Given the description of an element on the screen output the (x, y) to click on. 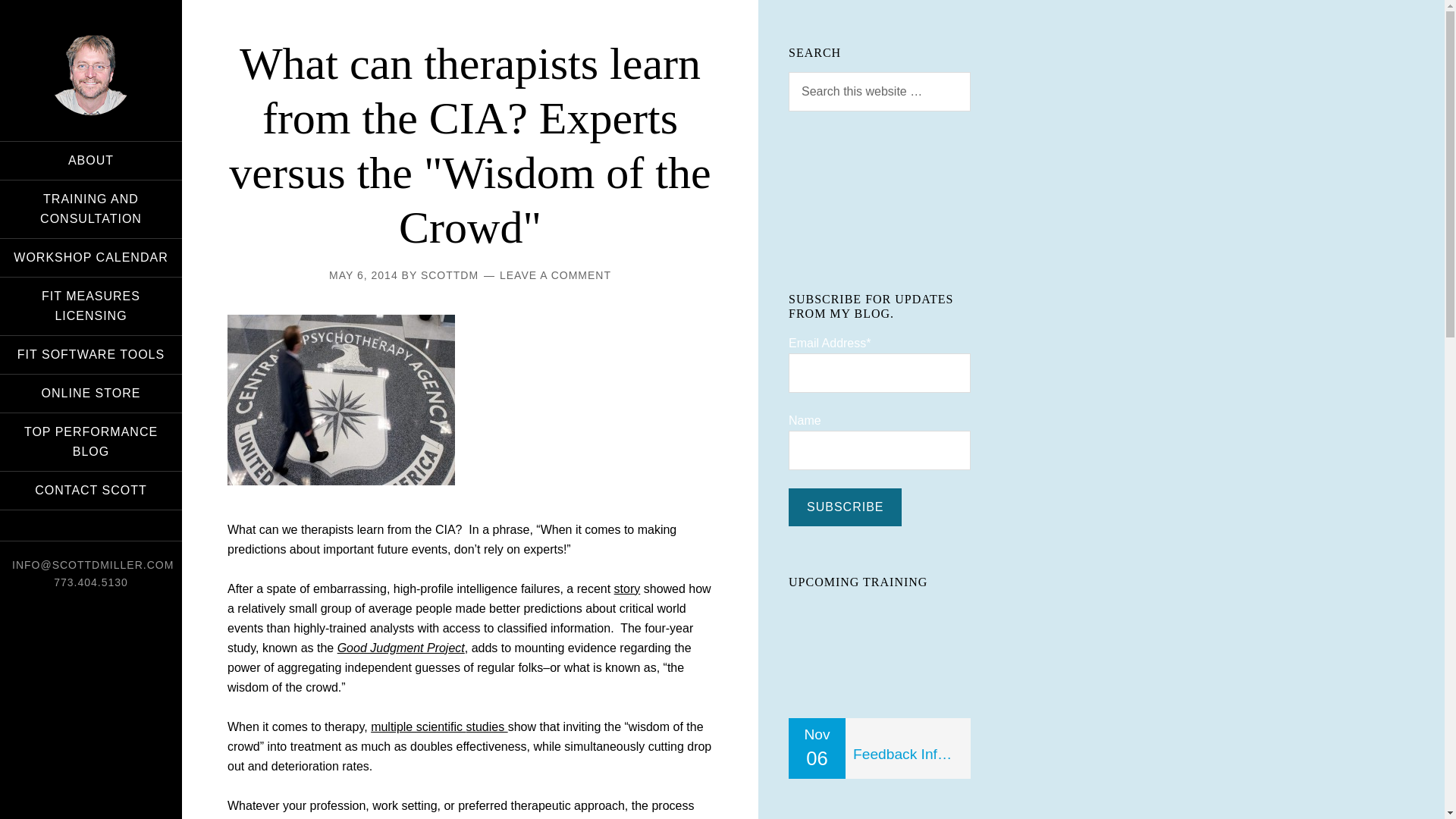
WORKSHOP CALENDAR (91, 257)
multiple scientific (418, 726)
LEAVE A COMMENT (555, 275)
story (627, 588)
TOP PERFORMANCE BLOG (91, 441)
TRAINING AND CONSULTATION (91, 209)
FIT MEASURES LICENSING (91, 305)
Subscribe (845, 507)
studies (485, 726)
